Given the description of an element on the screen output the (x, y) to click on. 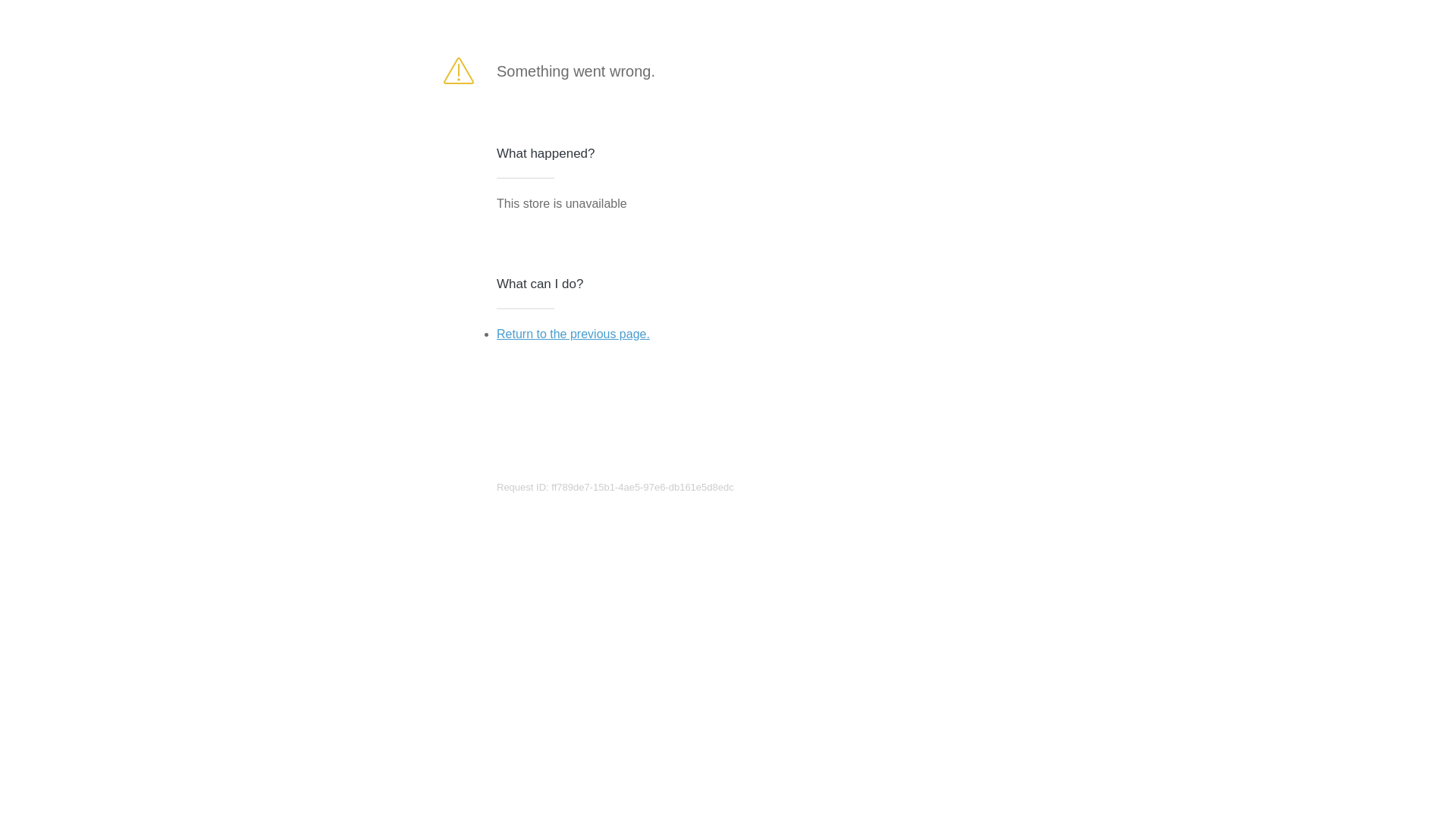
Return to the previous page. Element type: text (572, 333)
